Given the description of an element on the screen output the (x, y) to click on. 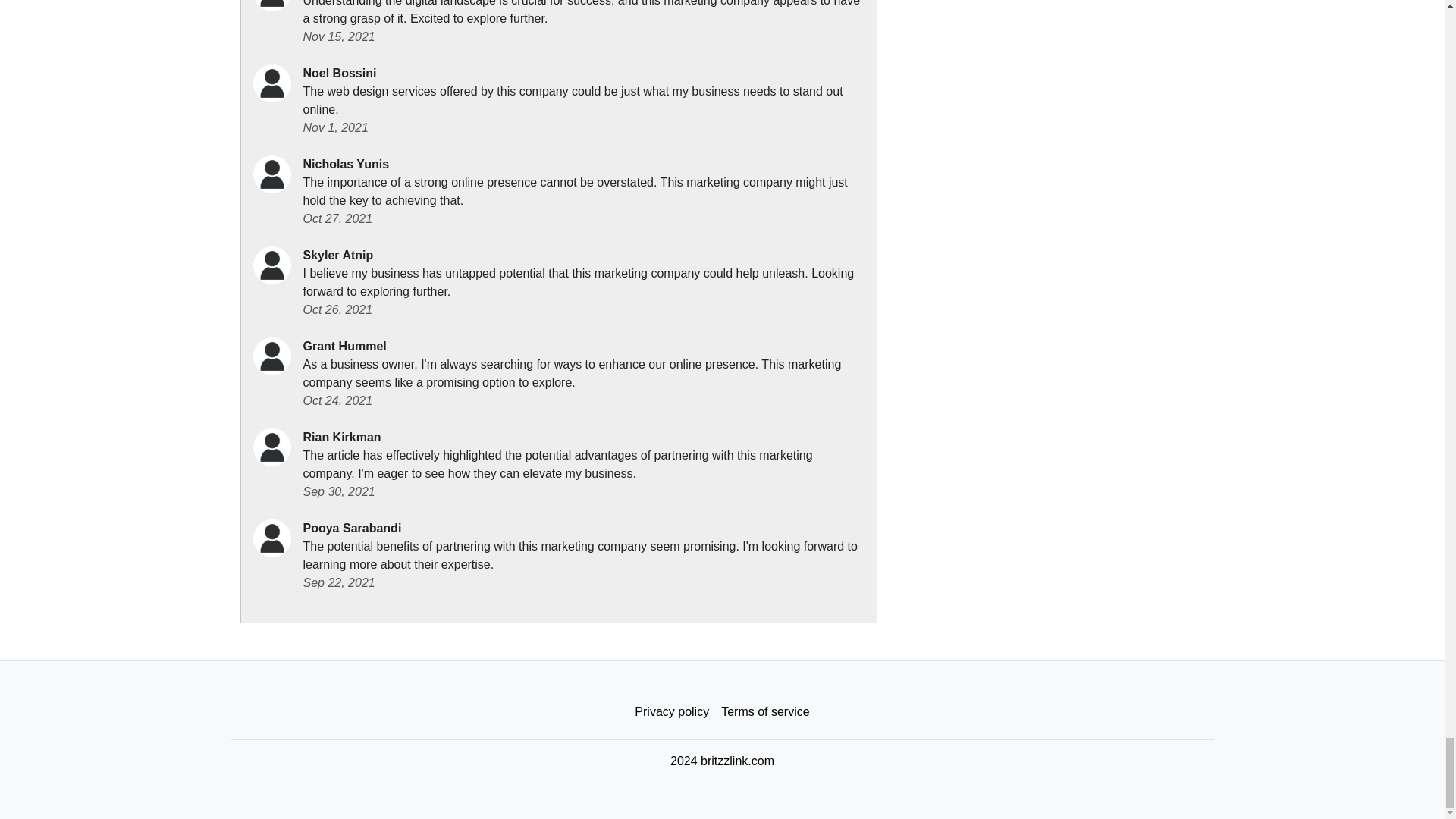
Terms of service (764, 711)
Privacy policy (671, 711)
